Given the description of an element on the screen output the (x, y) to click on. 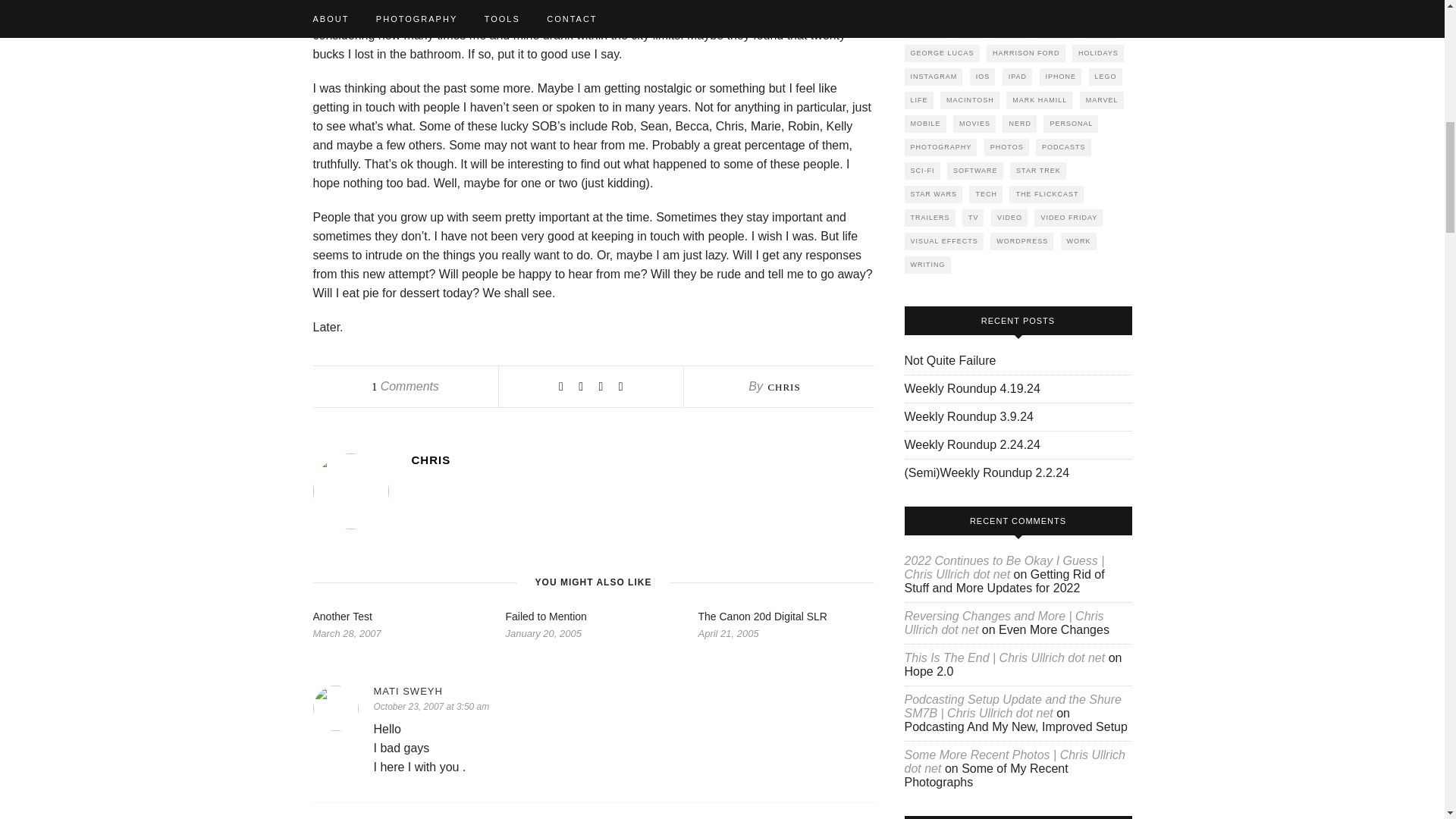
IPAD (1017, 76)
GEEK (1099, 29)
Posts by Chris (641, 459)
CHRIS (783, 387)
IOS (982, 76)
CHRIS (641, 459)
Posts by Chris (783, 387)
INSTAGRAM (933, 76)
HARRISON FORD (1026, 53)
GAMES (1056, 29)
